Given the description of an element on the screen output the (x, y) to click on. 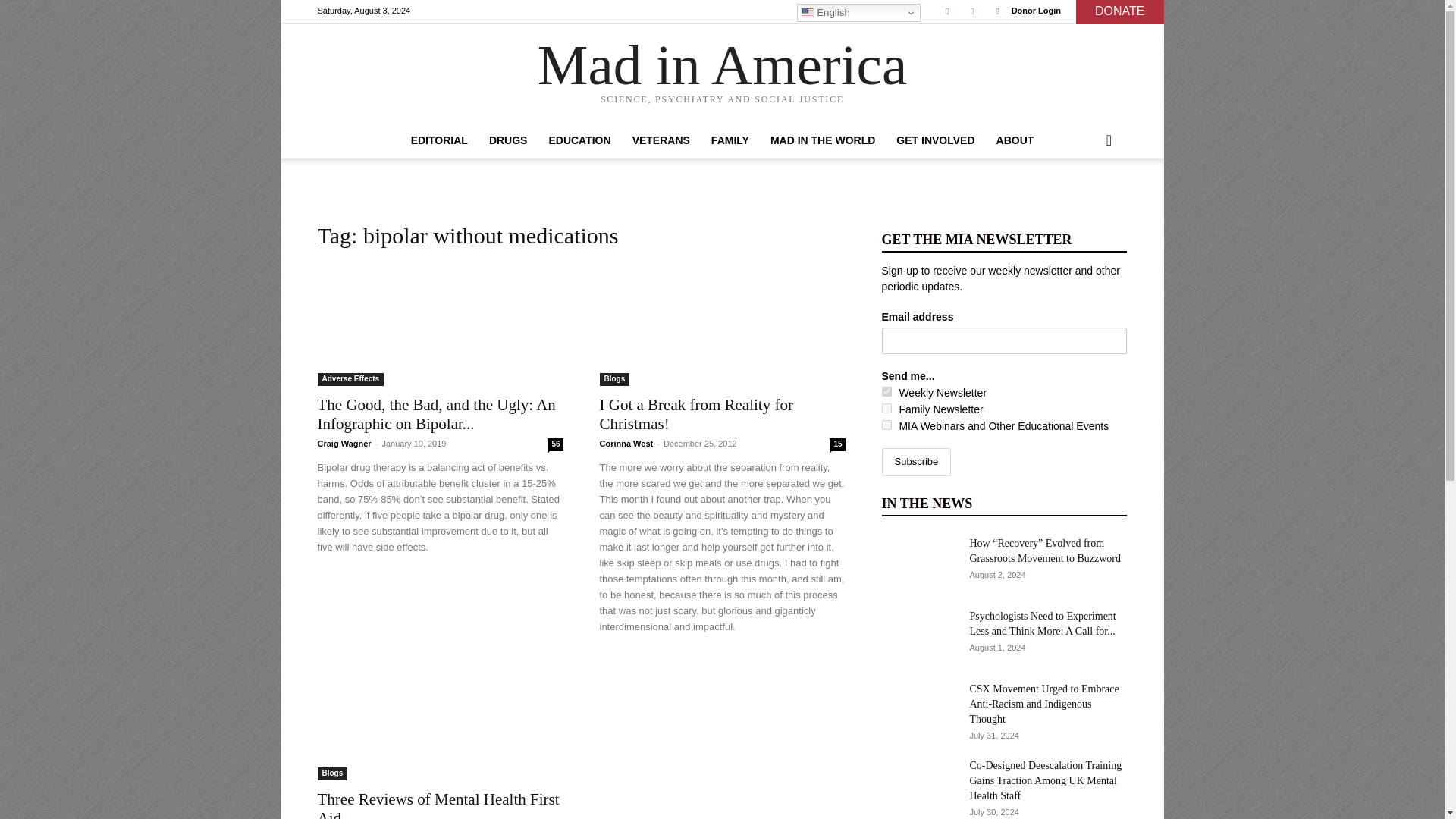
64ec82b4cd (885, 408)
Subscribe (915, 461)
Twitter (972, 10)
Facebook (947, 10)
a8b577bac2 (885, 391)
Youtube (998, 10)
59a3706891 (885, 424)
